Given the description of an element on the screen output the (x, y) to click on. 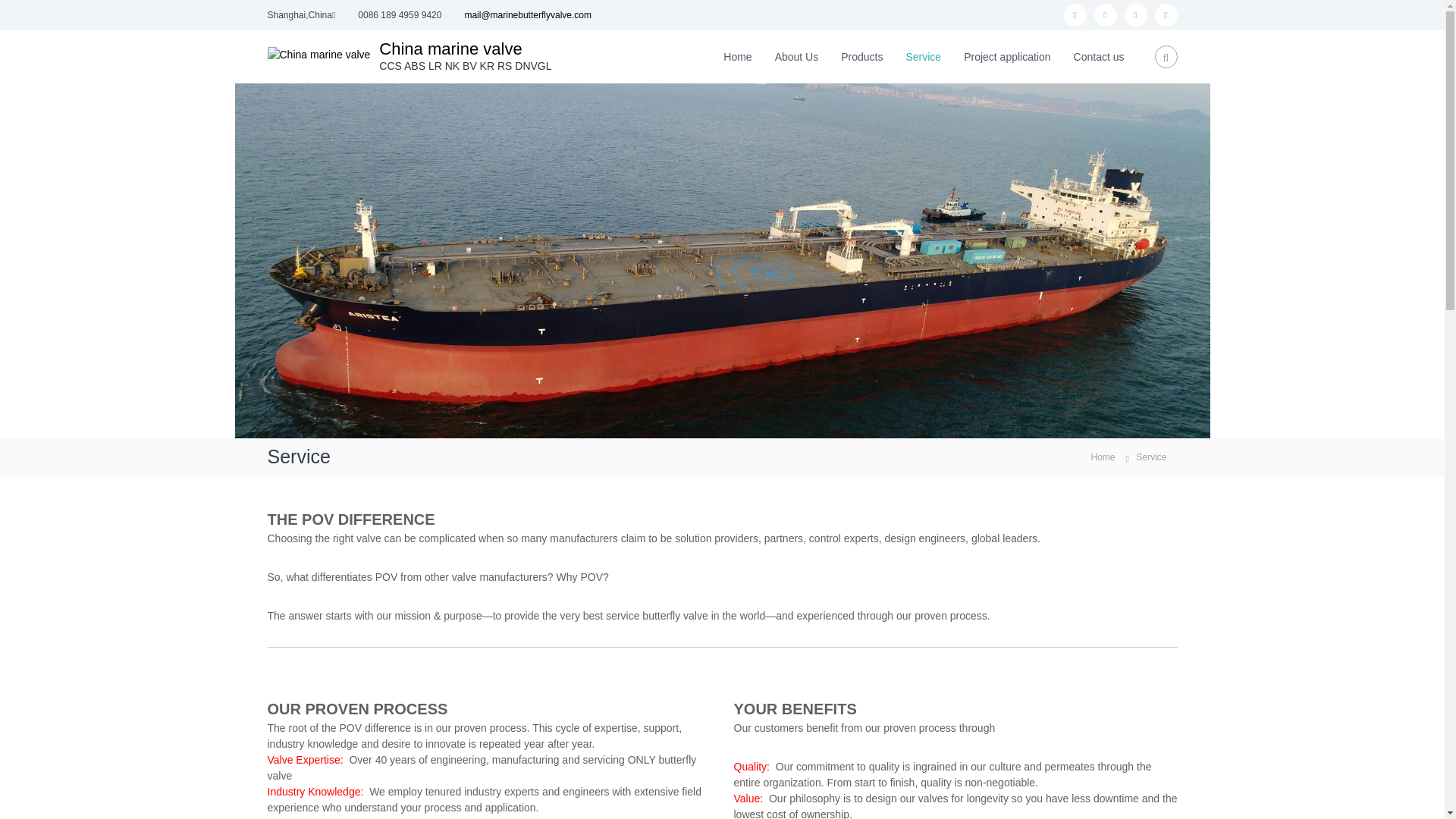
Home (1102, 456)
linkedin (1165, 15)
China marine valve (449, 48)
Home (737, 55)
Service (922, 55)
Project application (1006, 55)
Contact us (1099, 55)
About Us (796, 55)
instagram (1104, 15)
Products (861, 55)
